Given the description of an element on the screen output the (x, y) to click on. 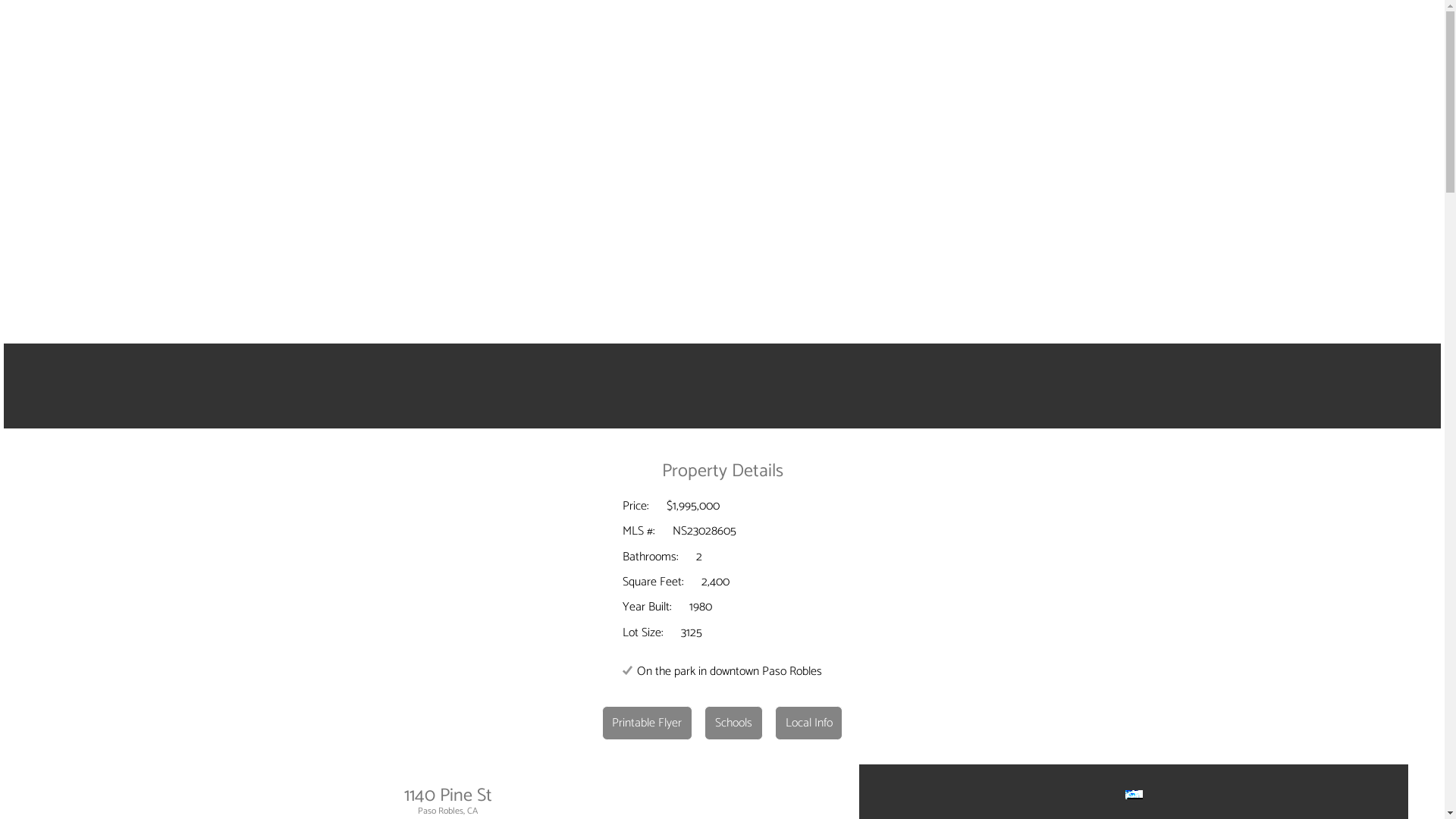
Printable Flyer Element type: text (647, 723)
Local Info Element type: text (809, 723)
Schools Element type: text (733, 723)
Property Video Element type: hover (721, 385)
